Given the description of an element on the screen output the (x, y) to click on. 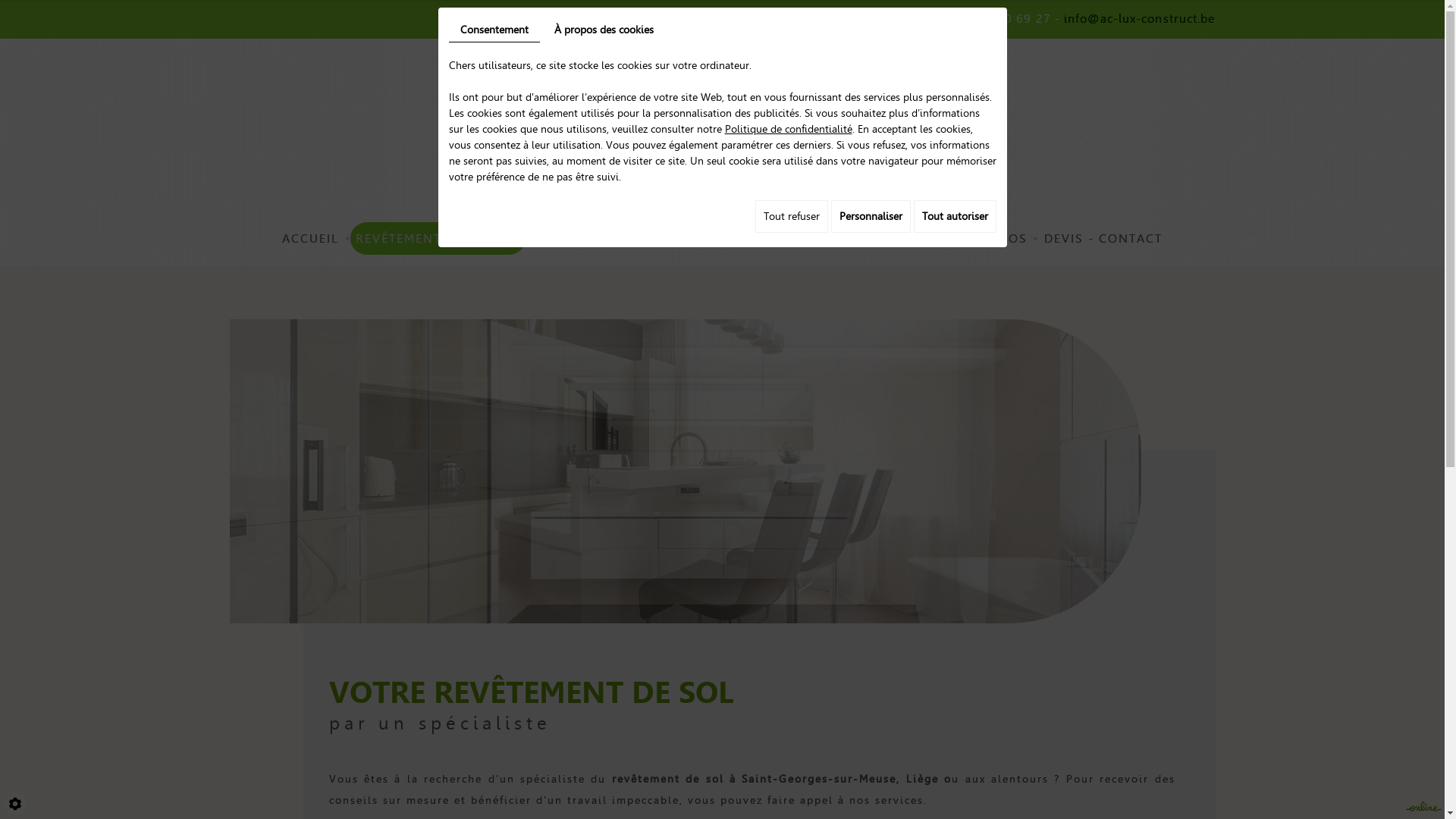
SALLE DE BAIN Element type: text (693, 238)
DEVIS - CONTACT Element type: text (1103, 238)
Tout autoriser Element type: text (954, 216)
Tout refuser Element type: text (791, 216)
info@ac-lux-construct.be Element type: text (1138, 18)
Personnaliser Element type: text (870, 216)
Consentement Element type: text (493, 30)
GALERIE PHOTOS Element type: text (969, 238)
ACCUEIL Element type: text (310, 238)
